Given the description of an element on the screen output the (x, y) to click on. 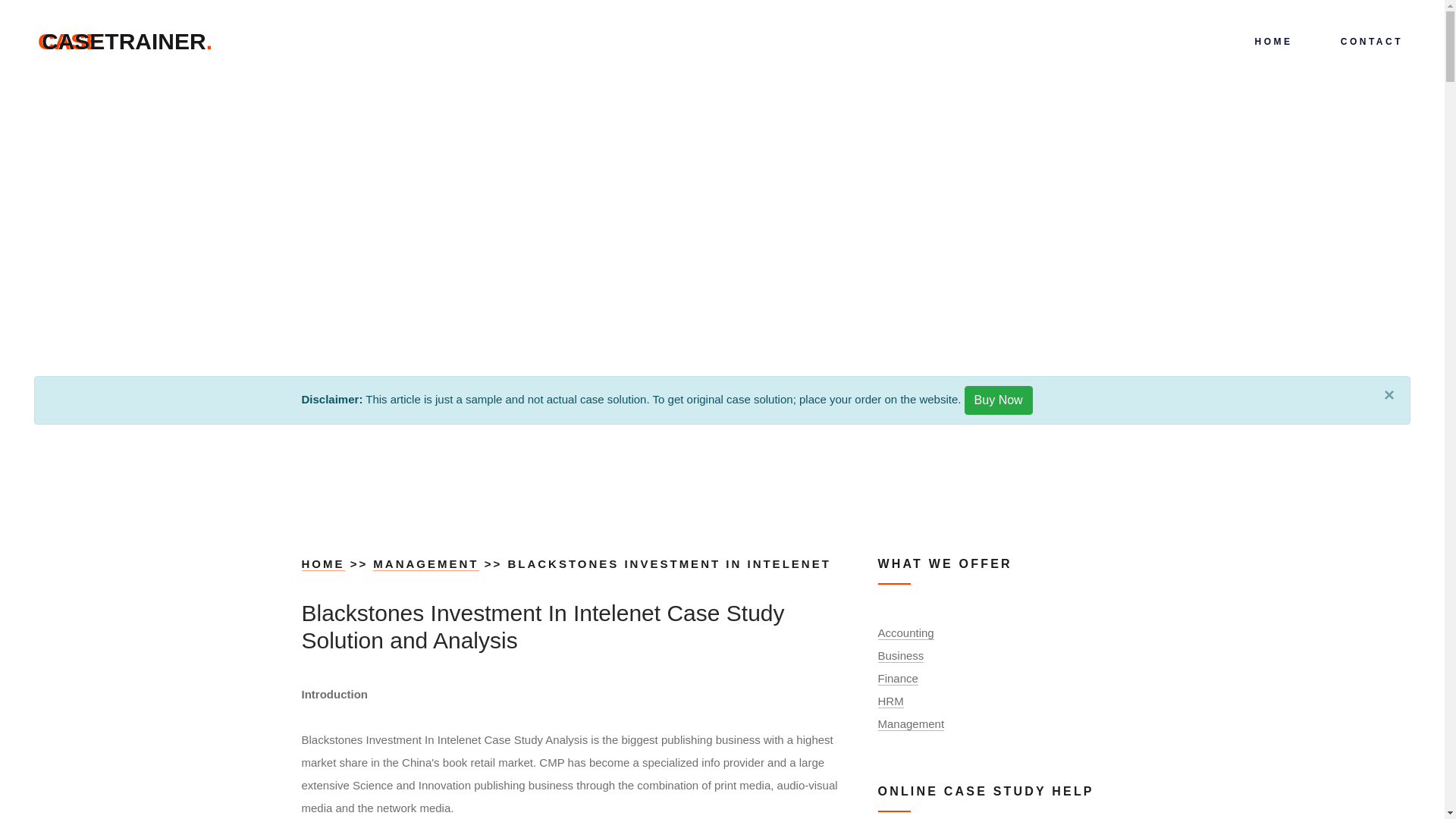
Buy Now (997, 399)
HOME (323, 563)
MANAGEMENT (425, 563)
CONTACT (127, 41)
